Given the description of an element on the screen output the (x, y) to click on. 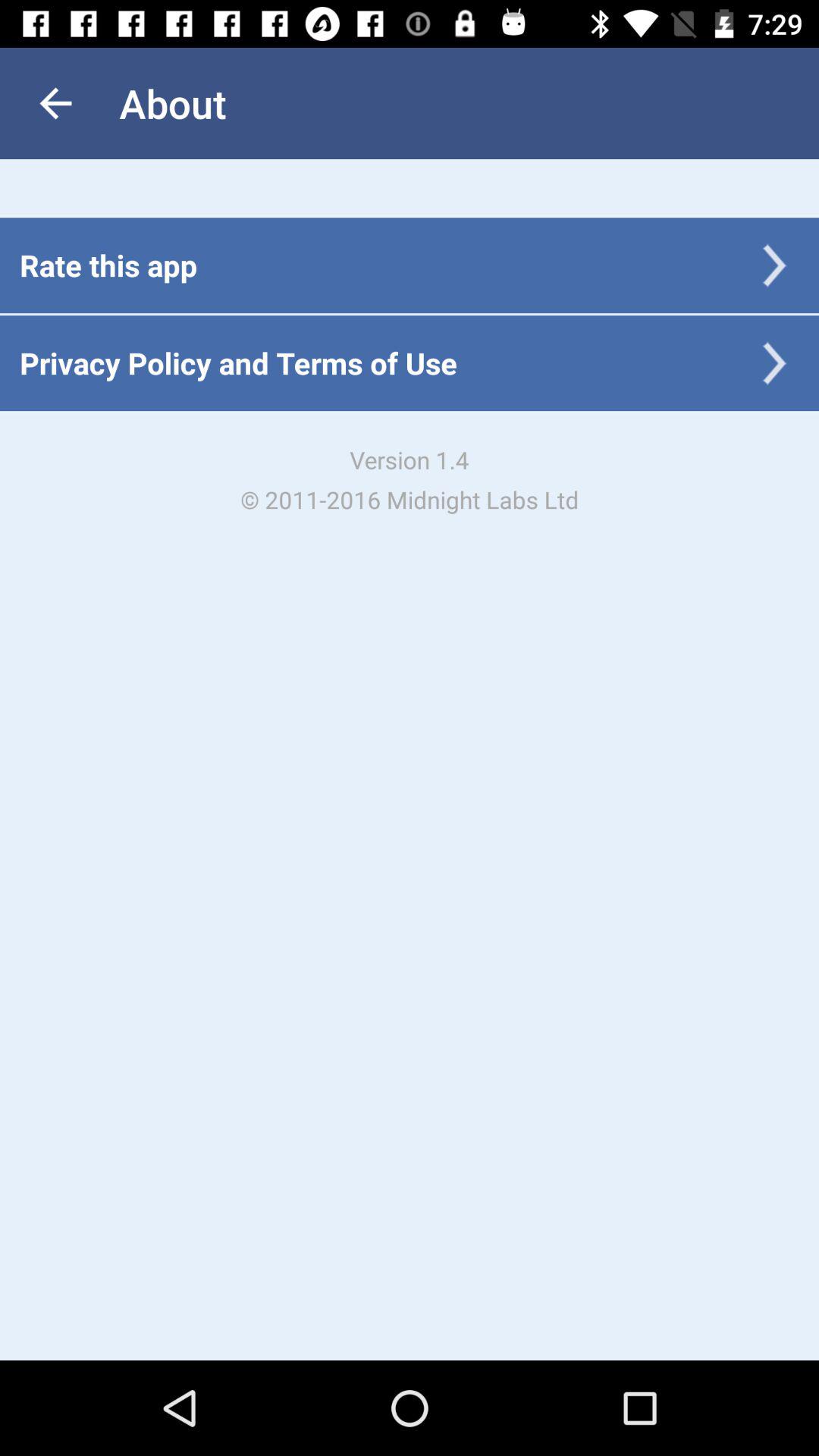
tap app next to the about (55, 103)
